Given the description of an element on the screen output the (x, y) to click on. 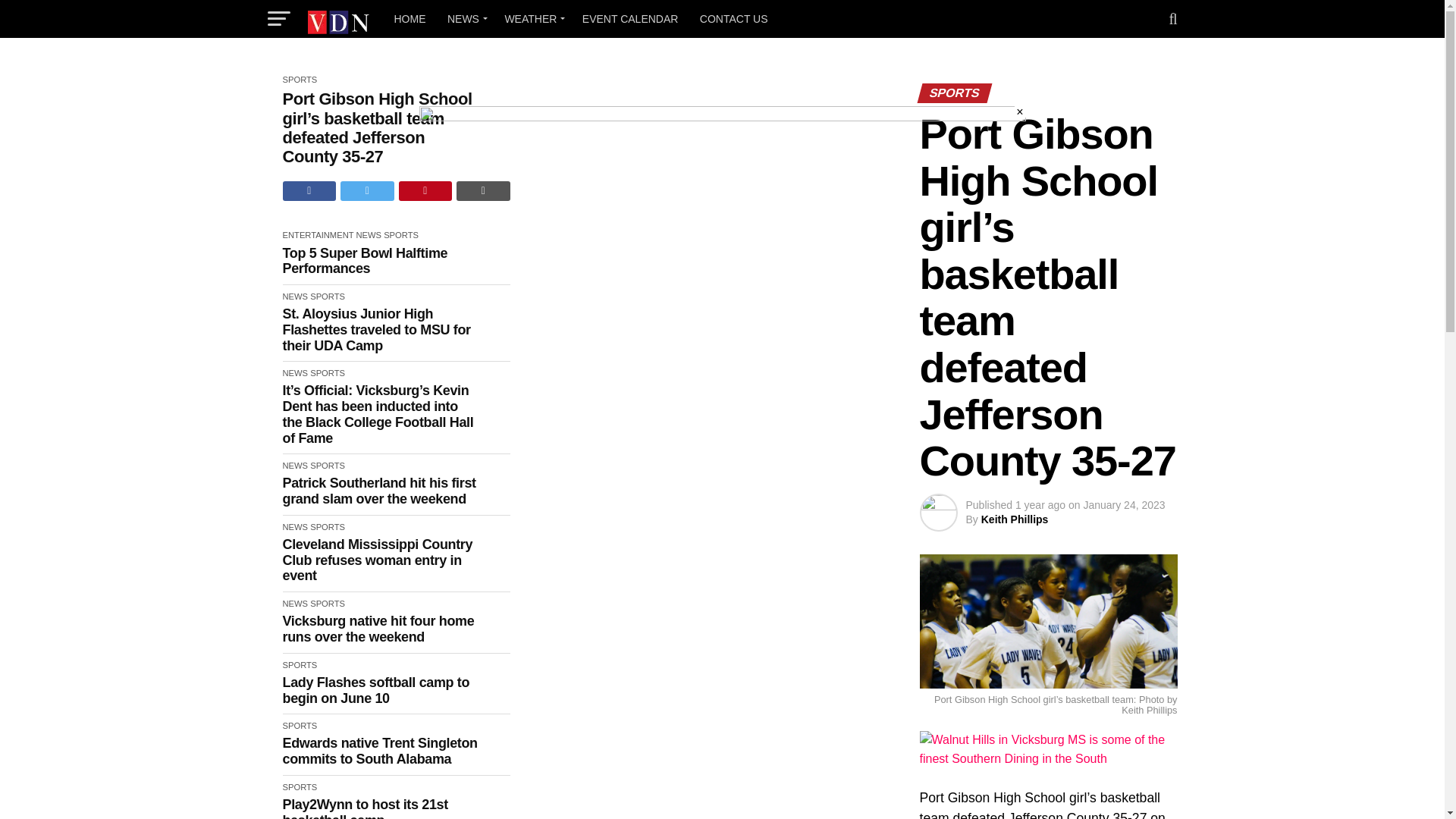
HOME (410, 18)
WEATHER (532, 18)
Pin This Post (425, 190)
EVENT CALENDAR (630, 18)
SPORTS (299, 79)
Tweet This Post (367, 190)
CONTACT US (733, 18)
Share on Facebook (309, 190)
NEWS (465, 18)
